Given the description of an element on the screen output the (x, y) to click on. 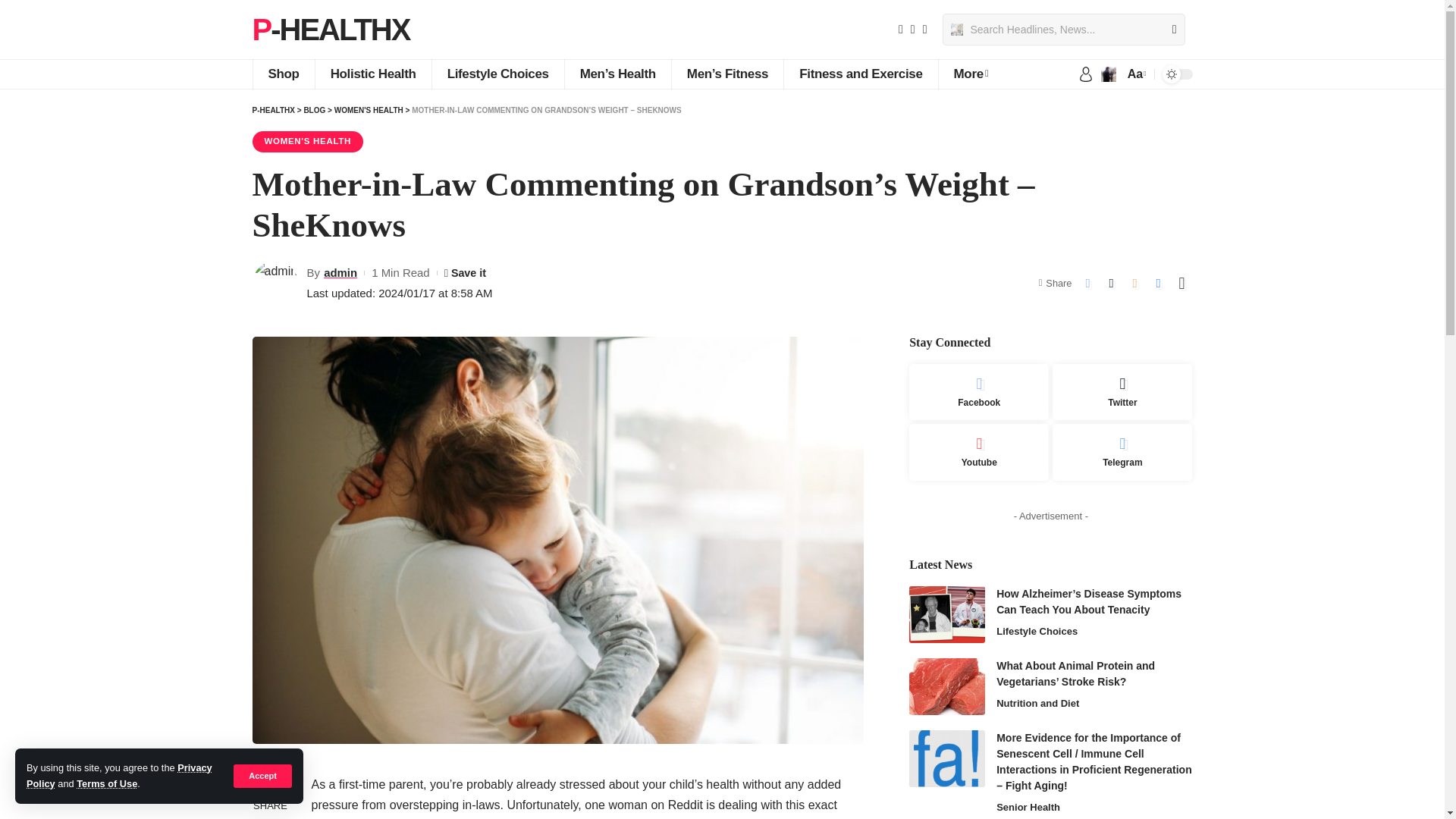
Terms of Use (106, 783)
Go to P-HealthX. (272, 110)
Accept (262, 775)
Lifestyle Choices (497, 73)
Search (1168, 29)
More (970, 73)
Holistic Health (372, 73)
Privacy Policy (119, 775)
Go to the Women's Health Category archives. (368, 110)
Aa (1135, 73)
